Given the description of an element on the screen output the (x, y) to click on. 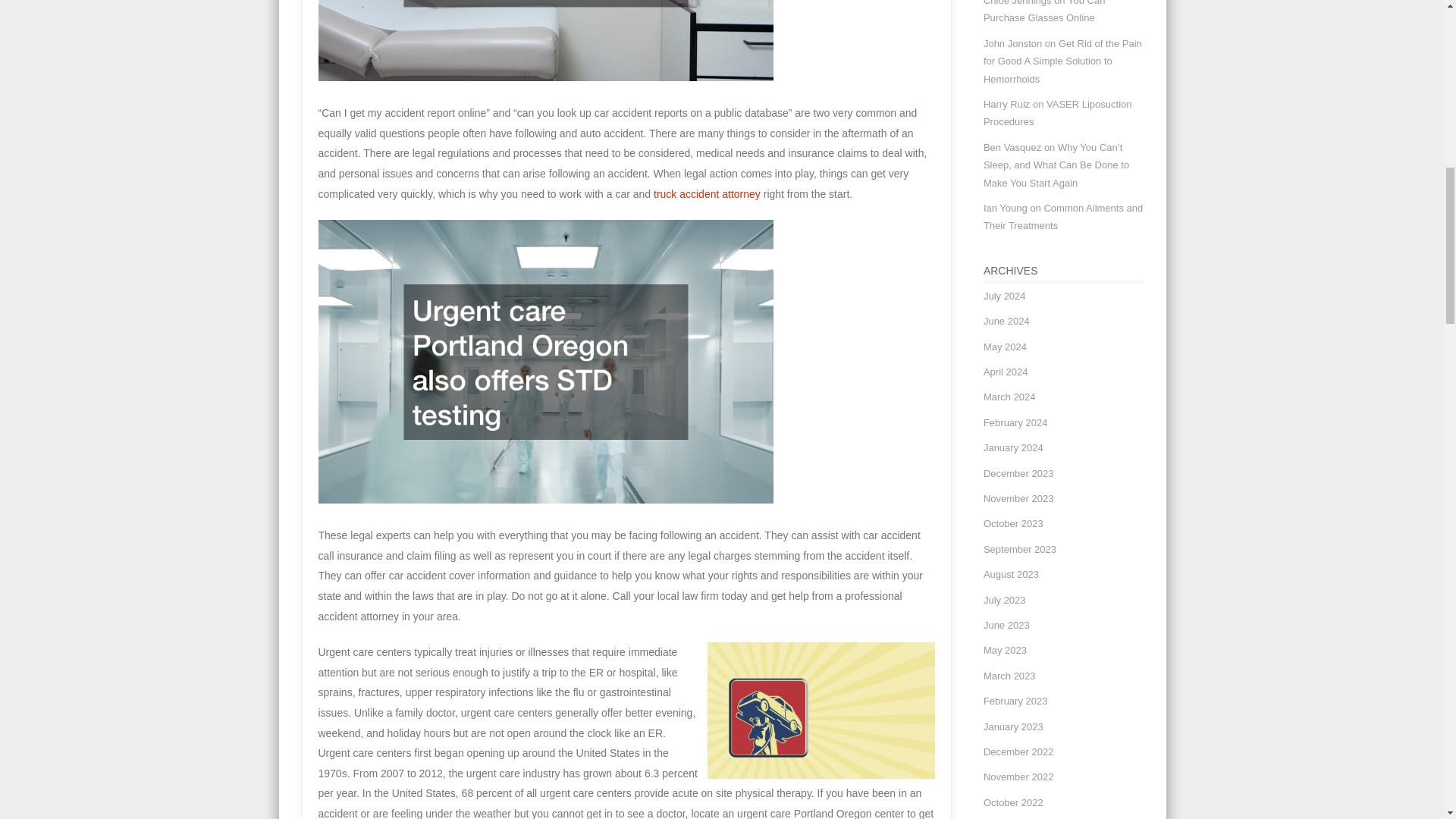
June 2024 (1006, 320)
July 2024 (1005, 296)
May 2024 (1005, 346)
April 2024 (1005, 371)
March 2024 (1009, 396)
Harry Ruiz (1006, 103)
You Can Purchase Glasses Online (1044, 11)
Common Ailments and Their Treatments (1063, 216)
VASER Liposuction Procedures (1058, 112)
truck accident attorney (706, 193)
